Given the description of an element on the screen output the (x, y) to click on. 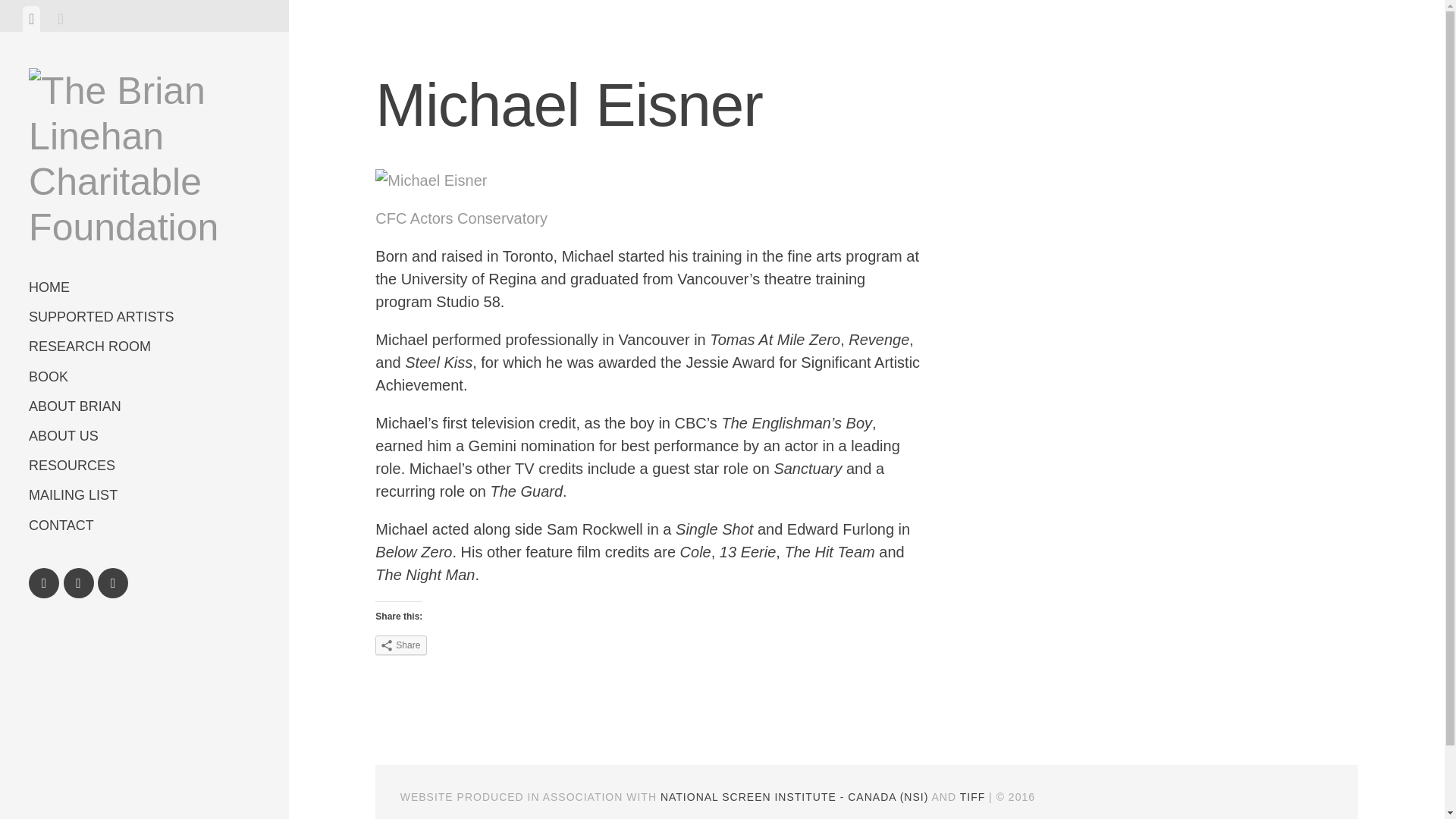
ABOUT US (144, 436)
CONTACT (144, 525)
Facebook (44, 583)
SUPPORTED ARTISTS (144, 317)
Link to CFC Actors Conservatory (461, 217)
RESOURCES (144, 465)
Twitter (79, 583)
BOOK (144, 377)
CFC Actors Conservatory (461, 217)
Share (400, 645)
